Given the description of an element on the screen output the (x, y) to click on. 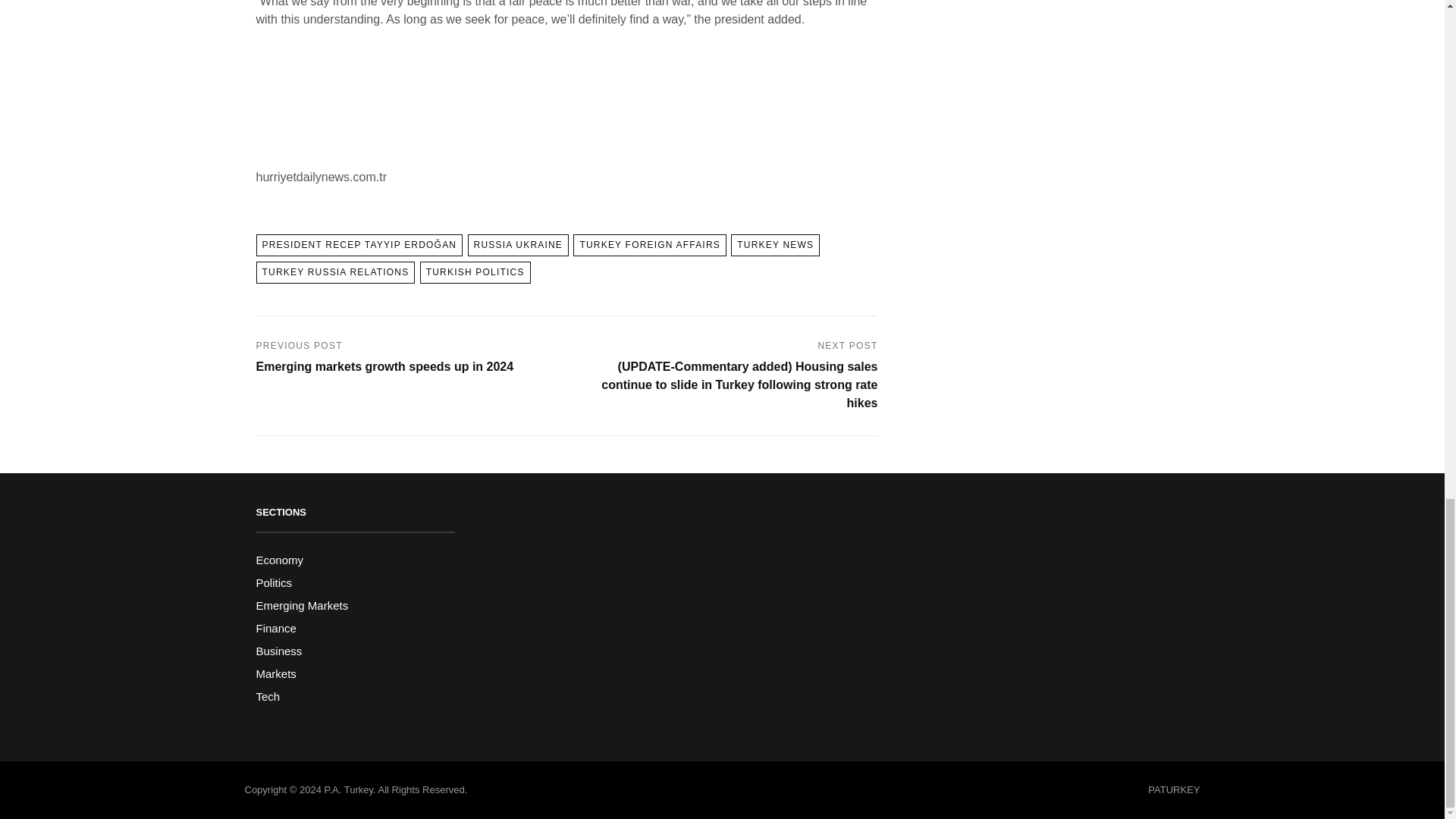
Politics (274, 582)
Economy (280, 559)
RUSSIA UKRAINE (518, 245)
TURKEY RUSSIA RELATIONS (335, 272)
TURKEY NEWS (774, 245)
Finance (276, 627)
Business (279, 650)
Emerging Markets (302, 604)
TURKISH POLITICS (475, 272)
